Given the description of an element on the screen output the (x, y) to click on. 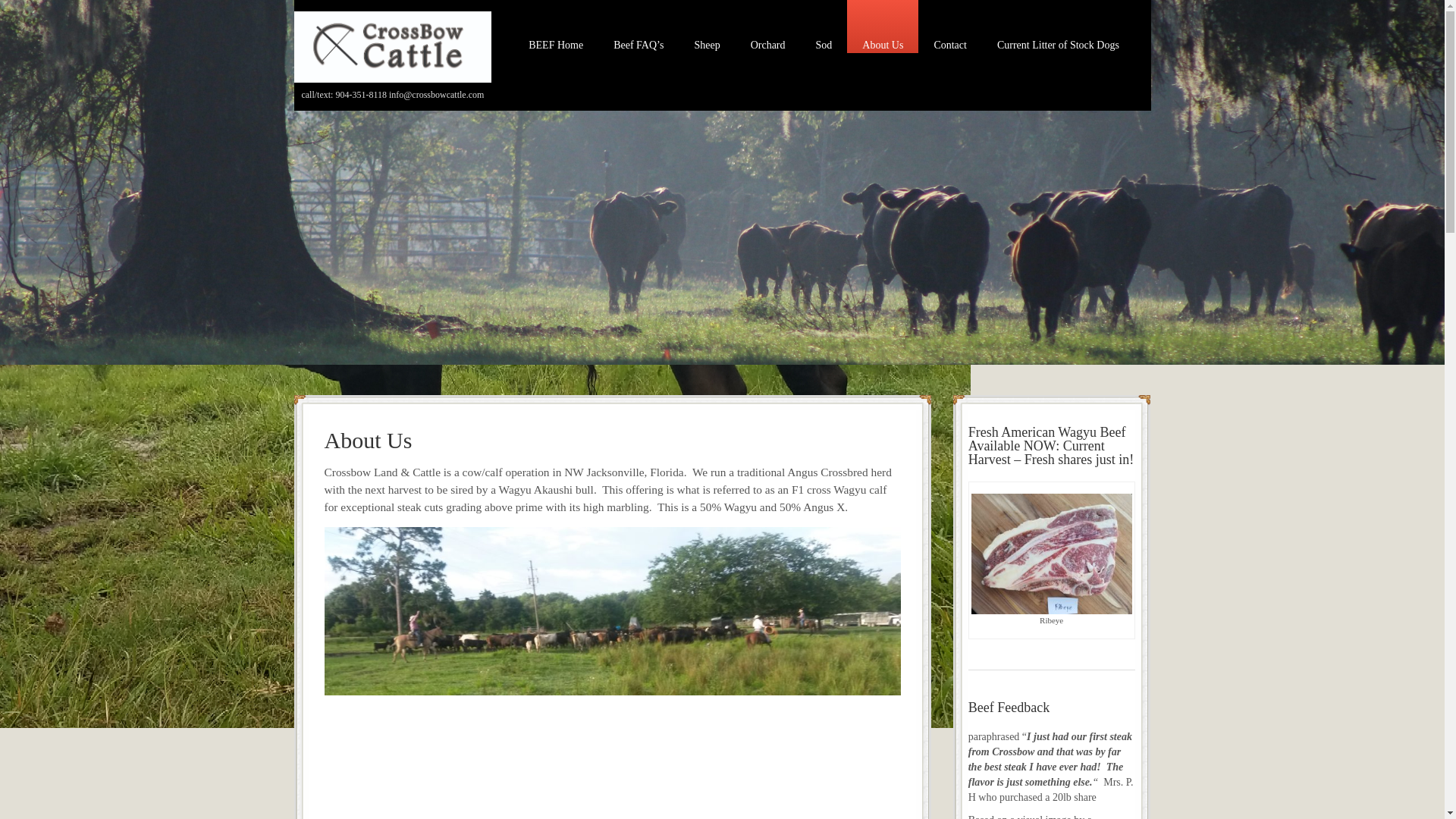
About Us (882, 26)
Orchard (767, 26)
BEEF Home (555, 26)
CrossBow Land and Cattle (393, 45)
Current Litter of Stock Dogs (1057, 26)
Contact (949, 26)
Sheep (706, 26)
